Given the description of an element on the screen output the (x, y) to click on. 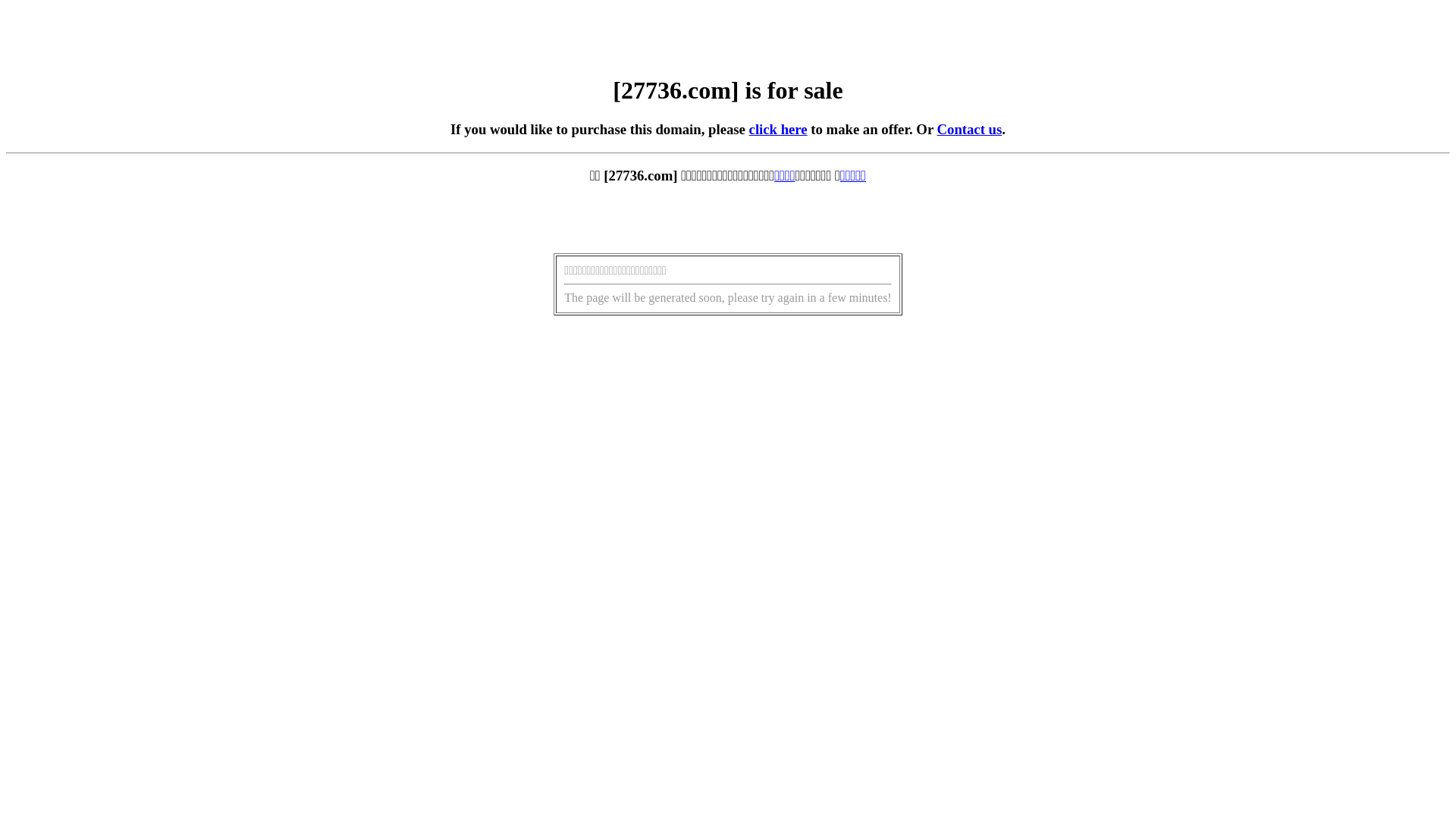
click here Element type: text (778, 129)
Contact us Element type: text (969, 129)
